Given the description of an element on the screen output the (x, y) to click on. 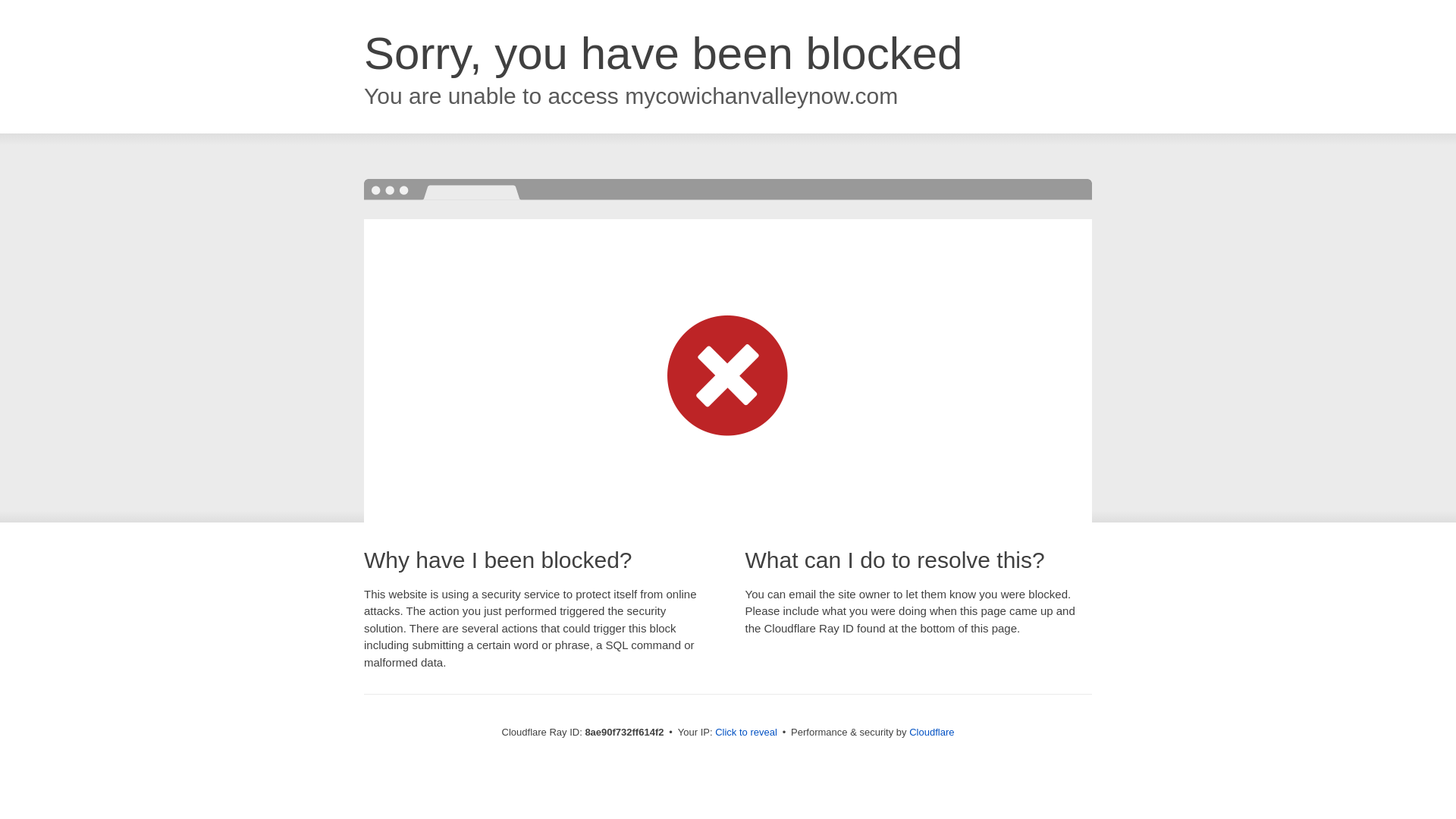
Click to reveal (745, 732)
Cloudflare (930, 731)
